Given the description of an element on the screen output the (x, y) to click on. 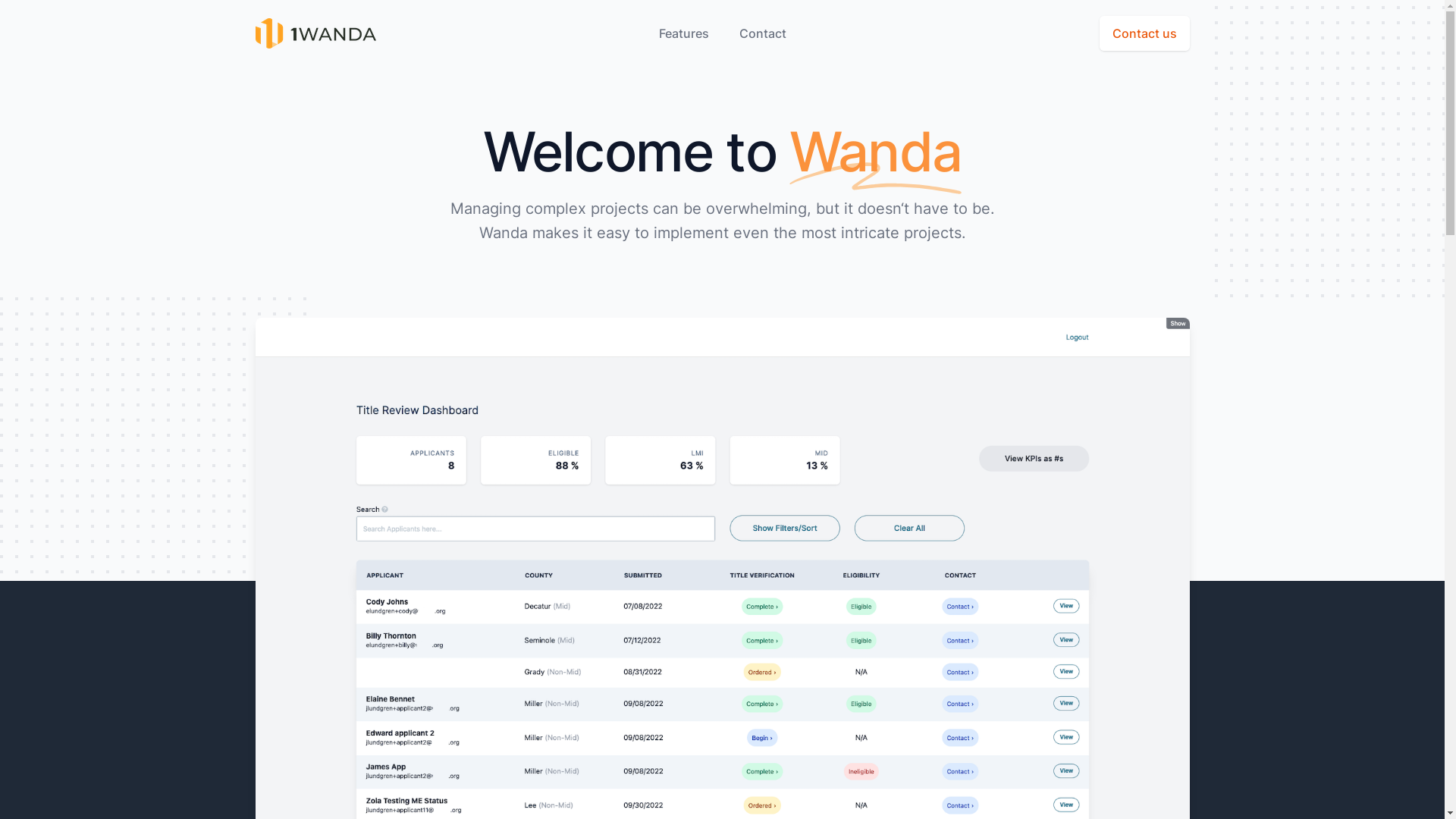
Wanda Element type: text (314, 33)
Contact Element type: text (761, 33)
Features Element type: text (683, 33)
Contact us Element type: text (1144, 32)
